Given the description of an element on the screen output the (x, y) to click on. 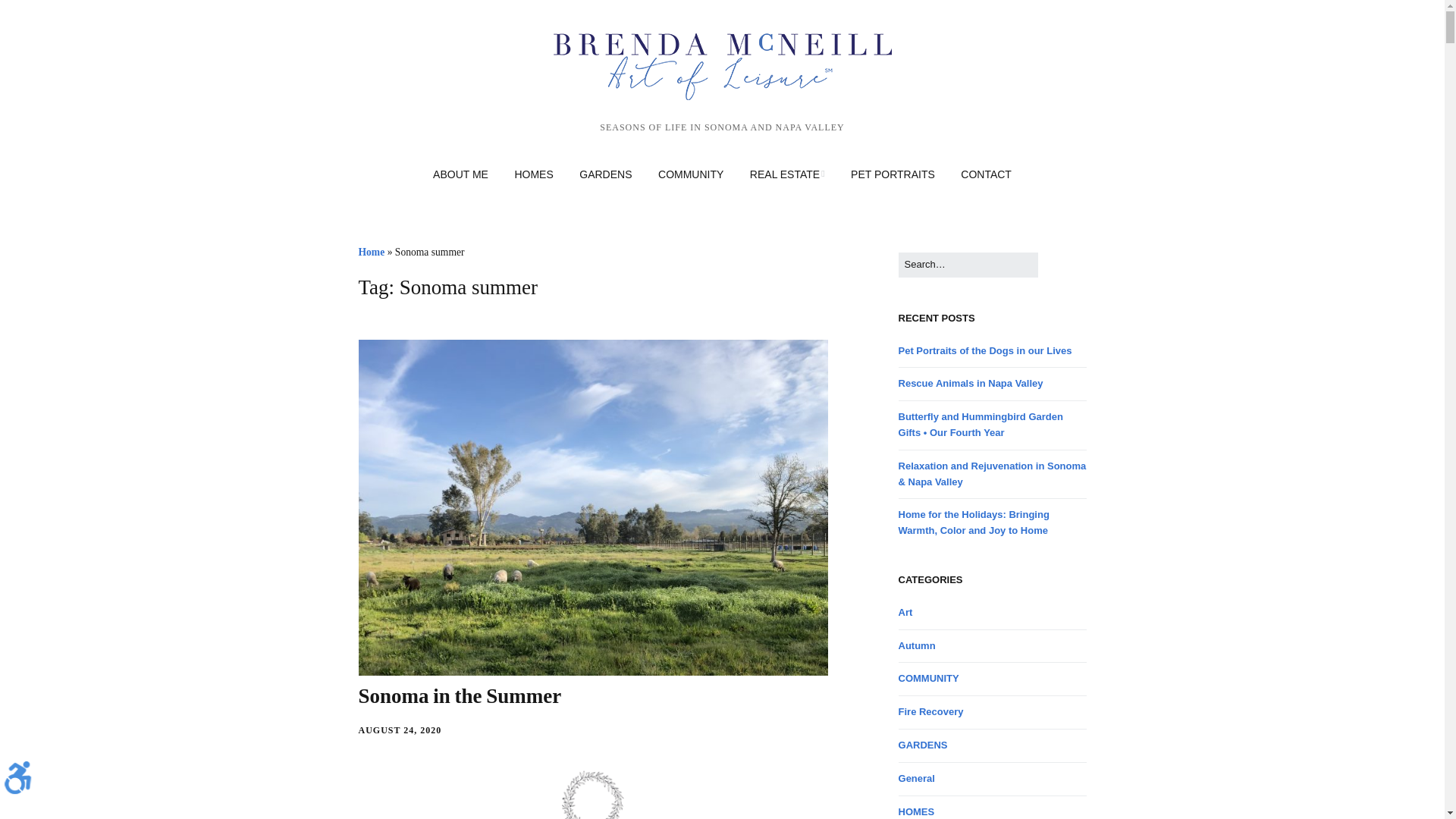
Press Enter to submit your search (968, 264)
REAL ESTATE (787, 174)
ABOUT ME (460, 174)
HOMES (533, 174)
GARDENS (605, 174)
COMMUNITY (690, 174)
